Given the description of an element on the screen output the (x, y) to click on. 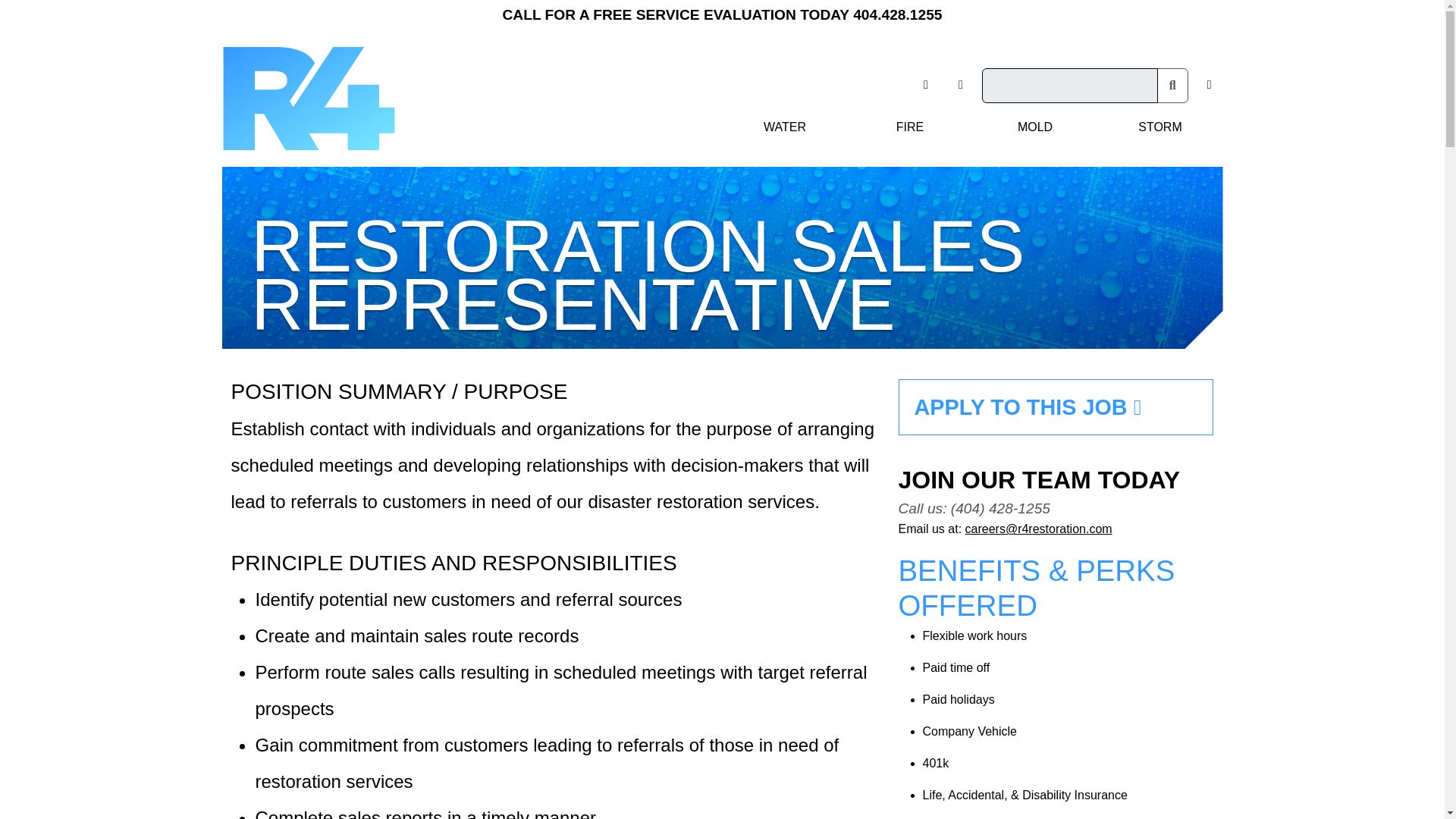
404.428.1255 (897, 14)
WATER (784, 127)
MOLD (1034, 127)
FIRE (909, 127)
APPLY TO THIS JOB (1055, 406)
STORM (1160, 127)
